Given the description of an element on the screen output the (x, y) to click on. 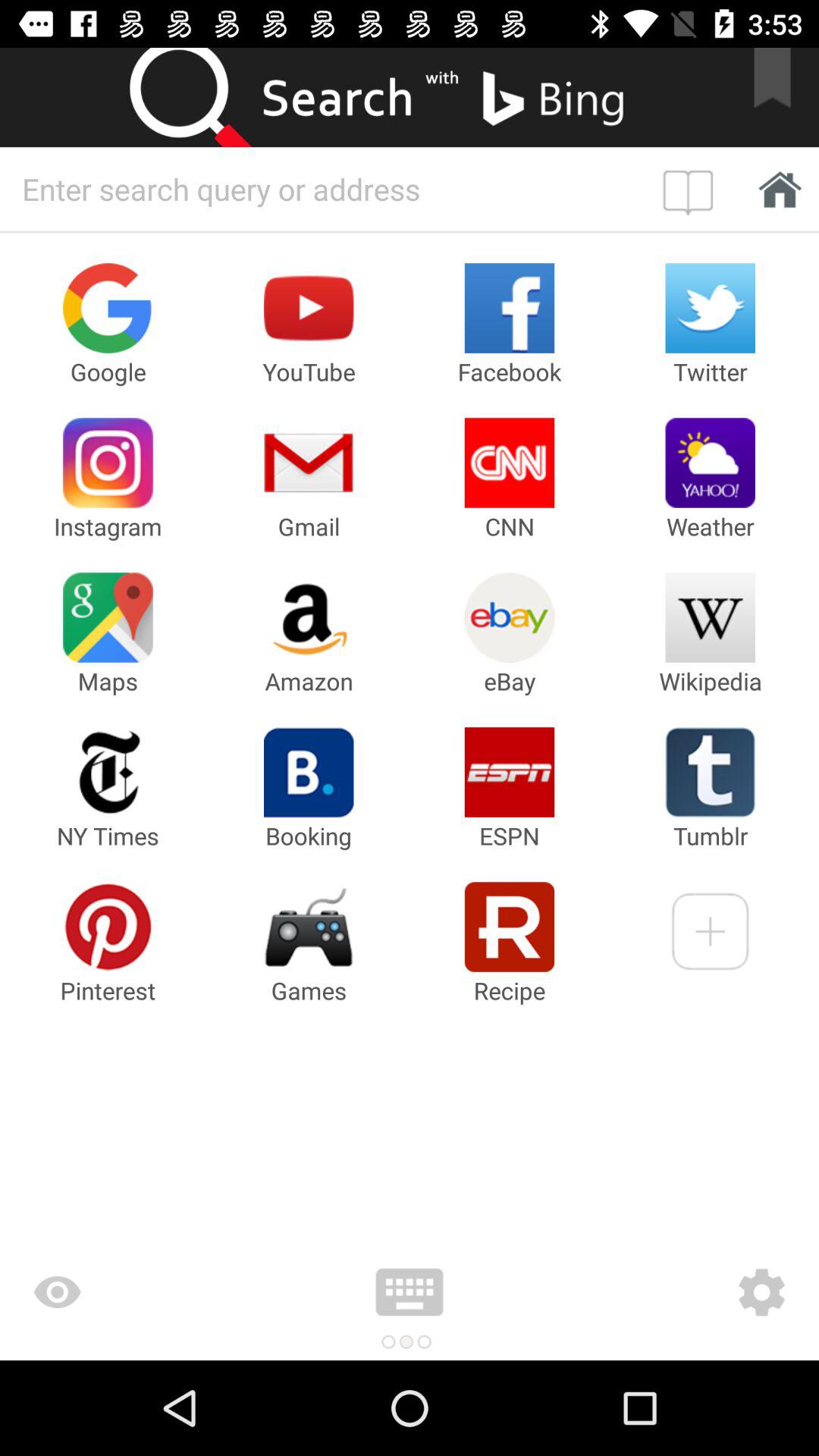
go home (775, 188)
